Given the description of an element on the screen output the (x, y) to click on. 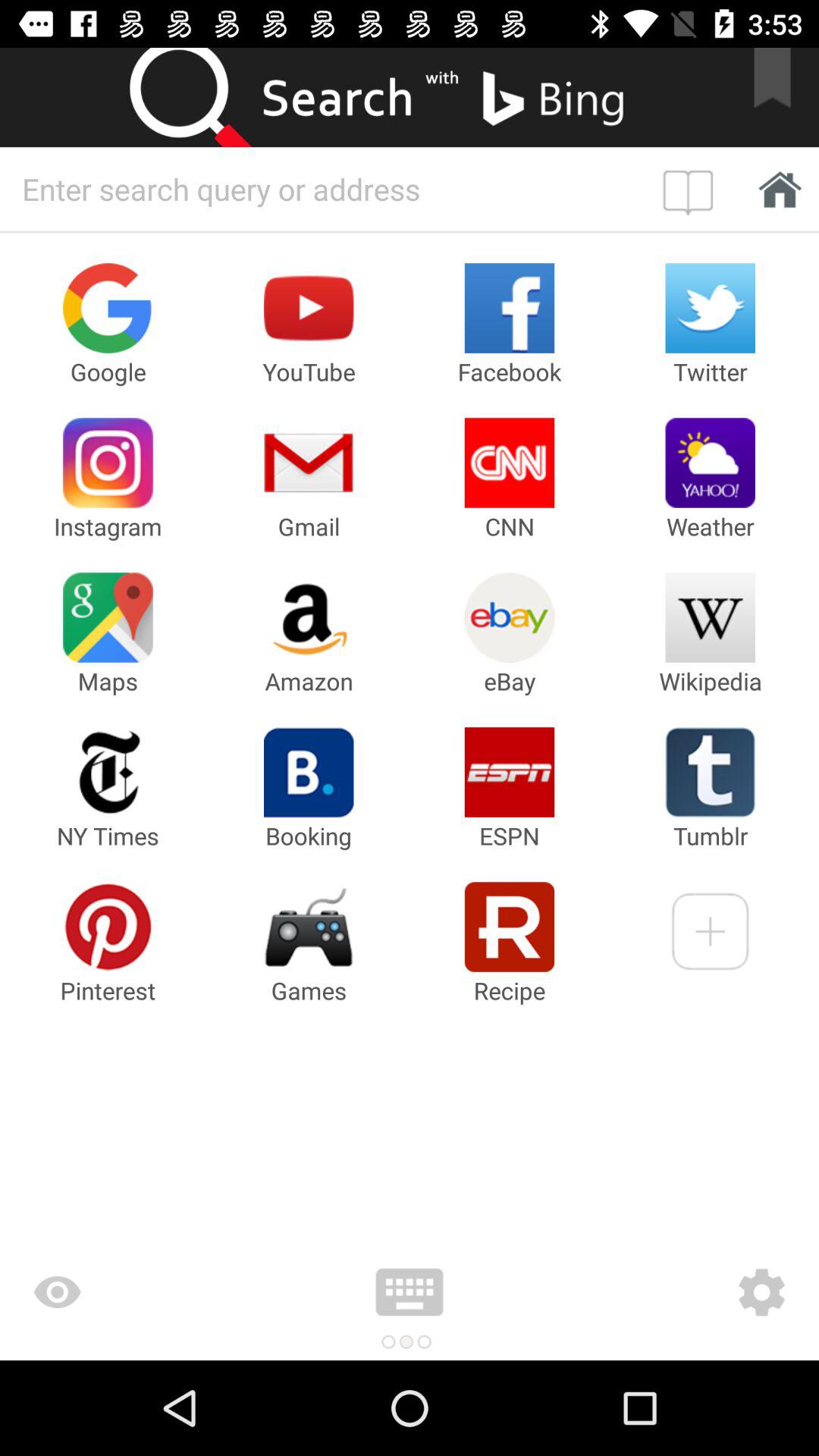
go home (775, 188)
